Given the description of an element on the screen output the (x, y) to click on. 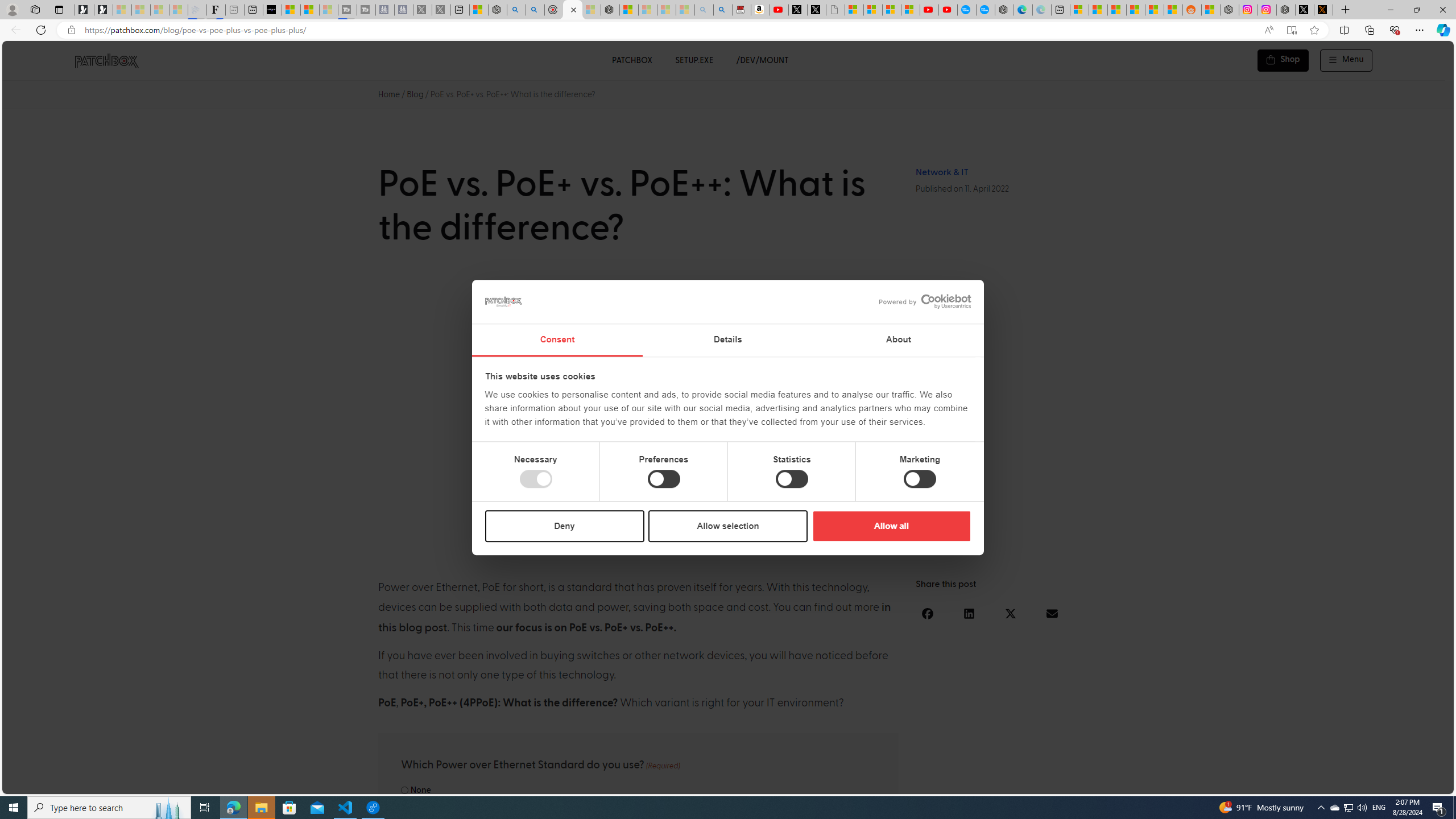
New tab - Sleeping (234, 9)
Language switcher : Italian (1265, 782)
/DEV/MOUNT (762, 60)
